Given the description of an element on the screen output the (x, y) to click on. 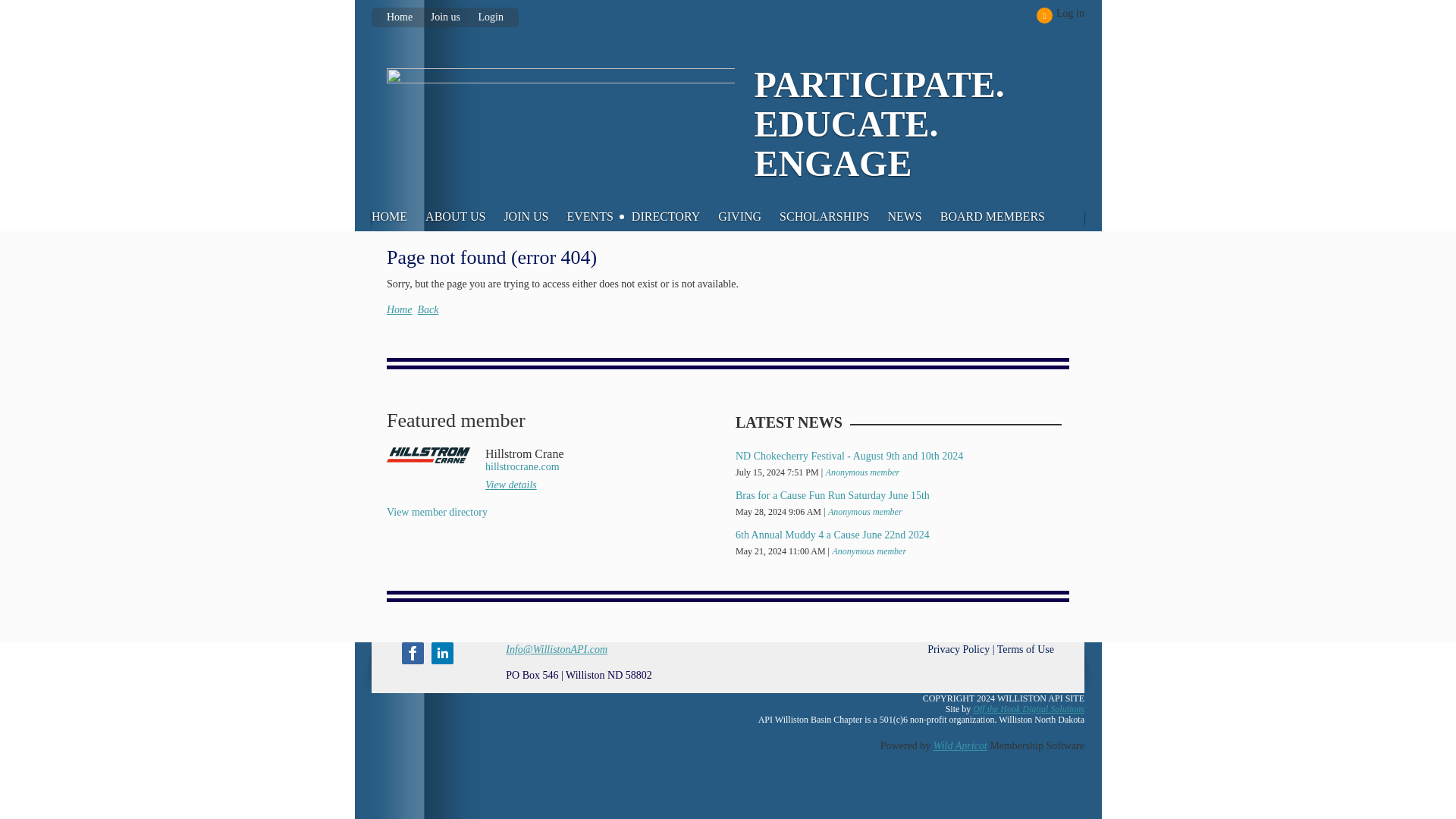
Home (395, 17)
DIRECTORY (674, 216)
Bras for a Cause Fun Run Saturday June 15th (832, 495)
News (912, 216)
View member directory (437, 511)
Facebook (412, 653)
Join us (445, 17)
JOIN US (534, 216)
Events (599, 216)
6th Annual Muddy 4 a Cause June 22nd 2024 (832, 534)
